Given the description of an element on the screen output the (x, y) to click on. 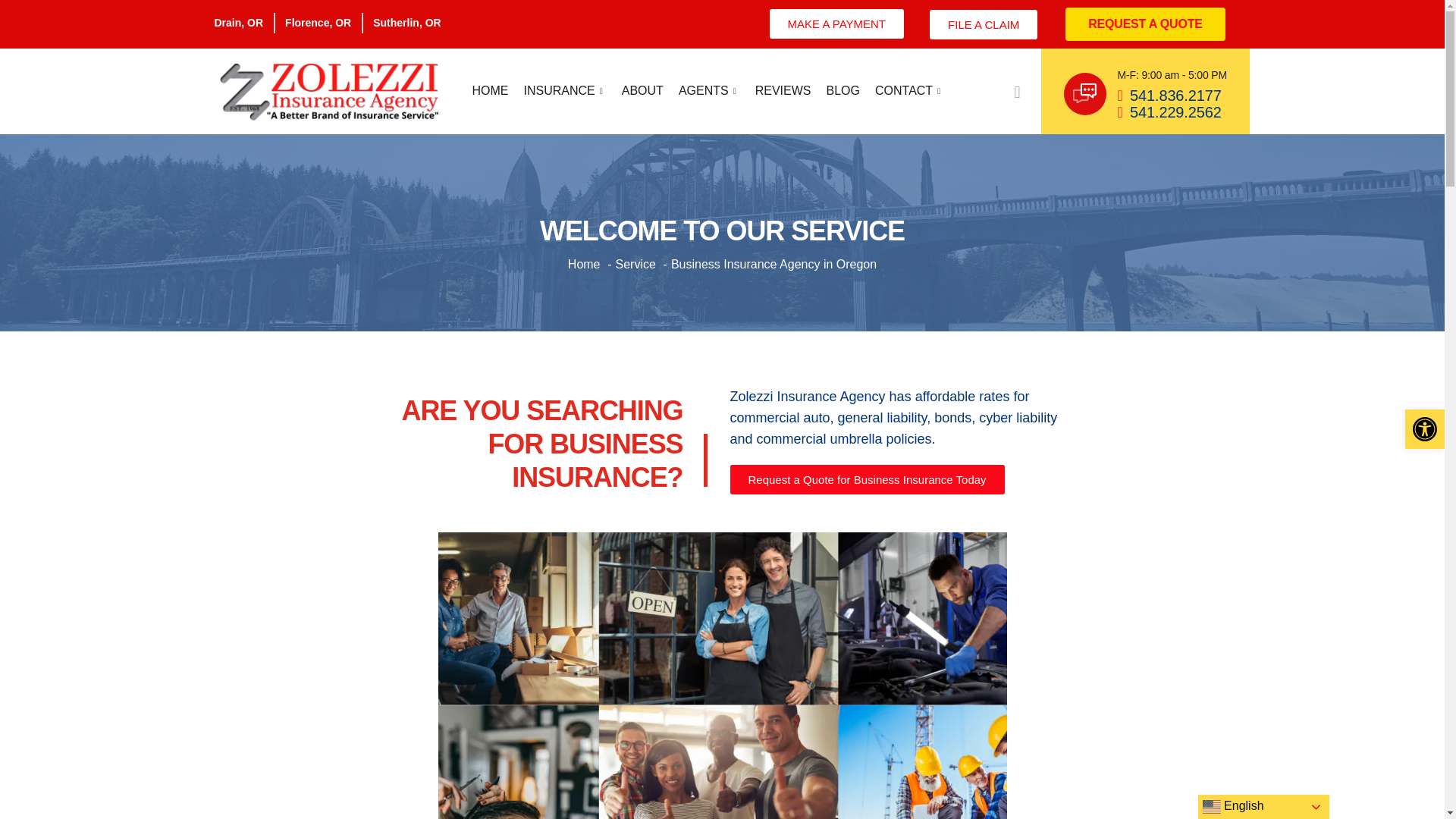
REQUEST A QUOTE (1145, 23)
Sutherlin, OR (406, 23)
Accessibility Tools (1424, 428)
FILE A CLAIM (983, 24)
MAKE A PAYMENT (837, 23)
Drain, OR (238, 23)
INSURANCE (563, 91)
Florence, OR (317, 23)
